Given the description of an element on the screen output the (x, y) to click on. 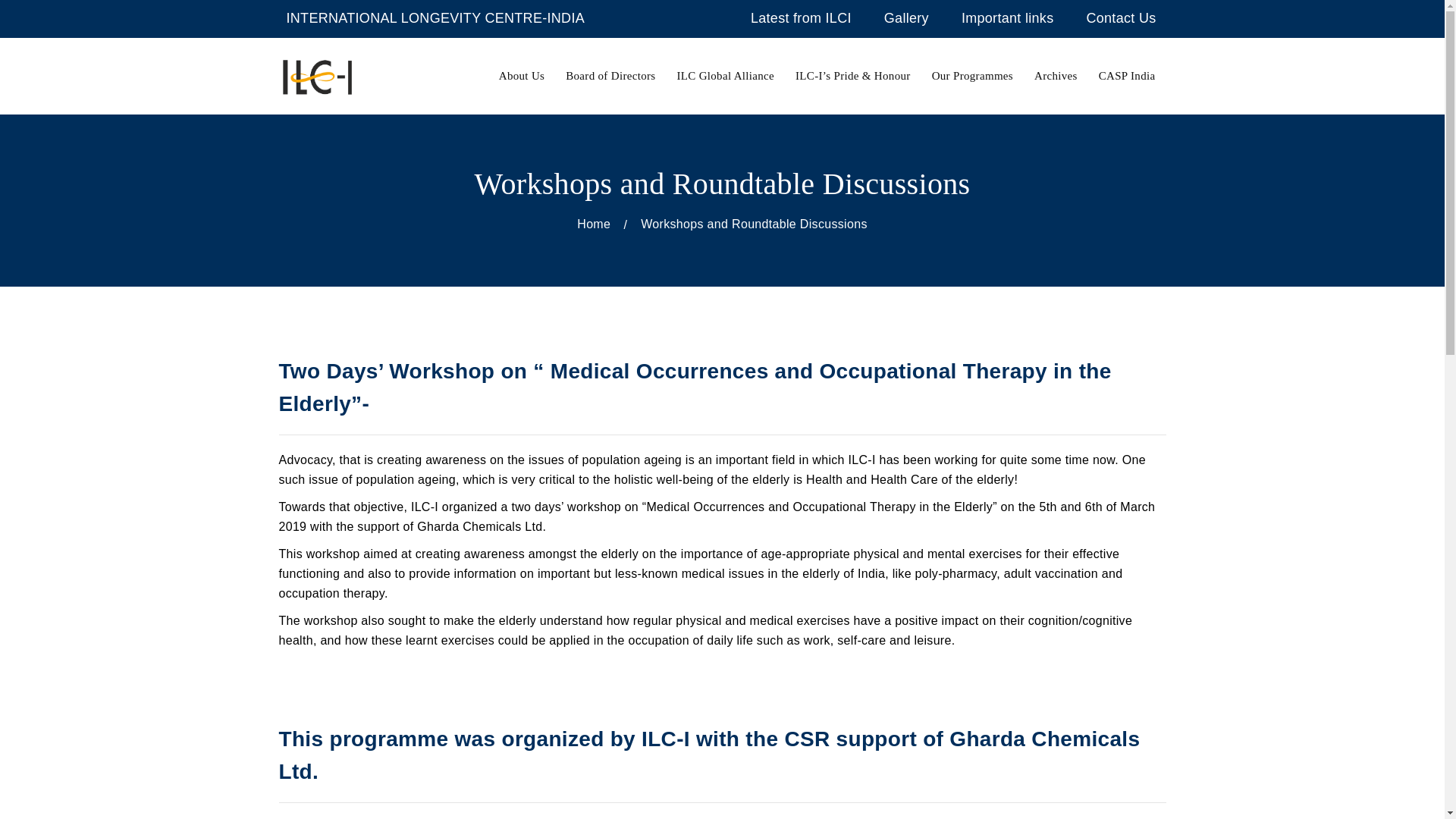
Important links (1007, 17)
Our Programmes (972, 75)
Gallery (905, 17)
Contact Us (1121, 17)
ILC India (317, 74)
Board of Directors (609, 75)
Latest from ILCI (801, 17)
ILC Global Alliance (724, 75)
CASP India (1126, 75)
